Given the description of an element on the screen output the (x, y) to click on. 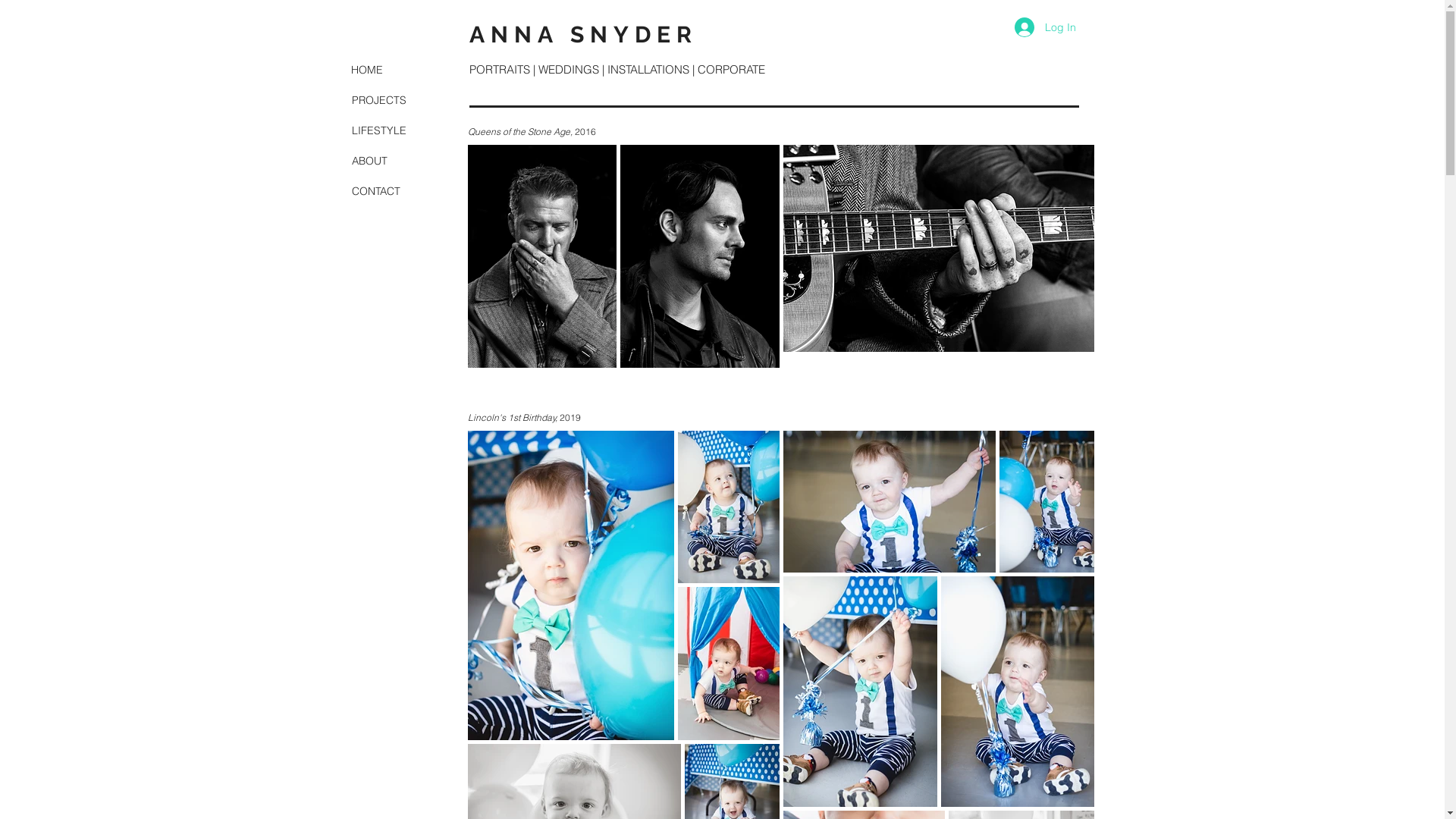
ABOUT Element type: text (405, 160)
Log In Element type: text (1045, 26)
CONTACT Element type: text (416, 190)
PROJECTS Element type: text (421, 99)
LIFESTYLE Element type: text (419, 130)
HOME Element type: text (404, 69)
